Given the description of an element on the screen output the (x, y) to click on. 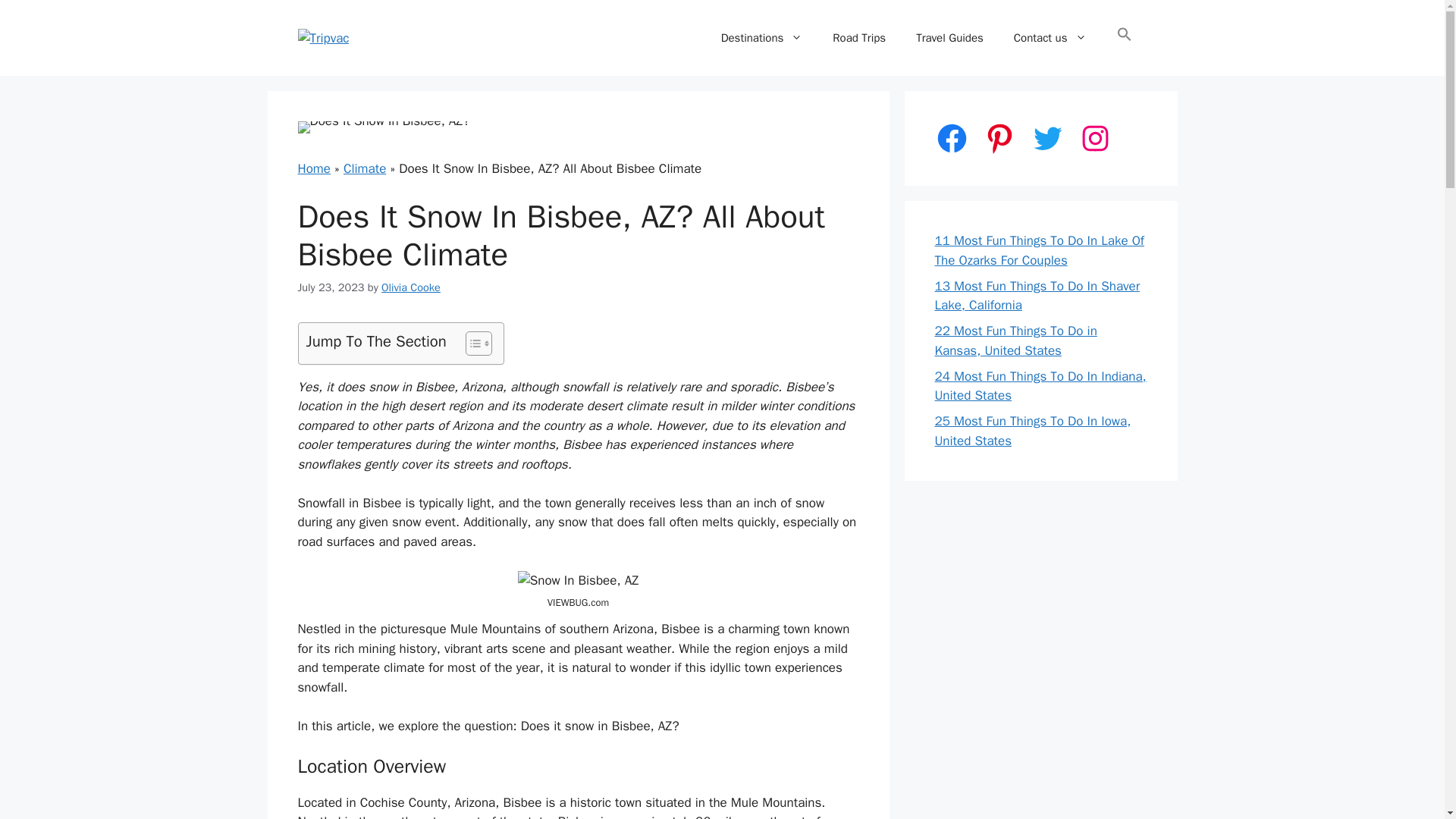
View all posts by Olivia Cooke (411, 287)
Road Trips (858, 37)
Olivia Cooke (411, 287)
Climate (364, 168)
Contact us (1050, 37)
Pinterest (999, 138)
Facebook (951, 138)
Home (313, 168)
Destinations (762, 37)
Travel Guides (949, 37)
